Given the description of an element on the screen output the (x, y) to click on. 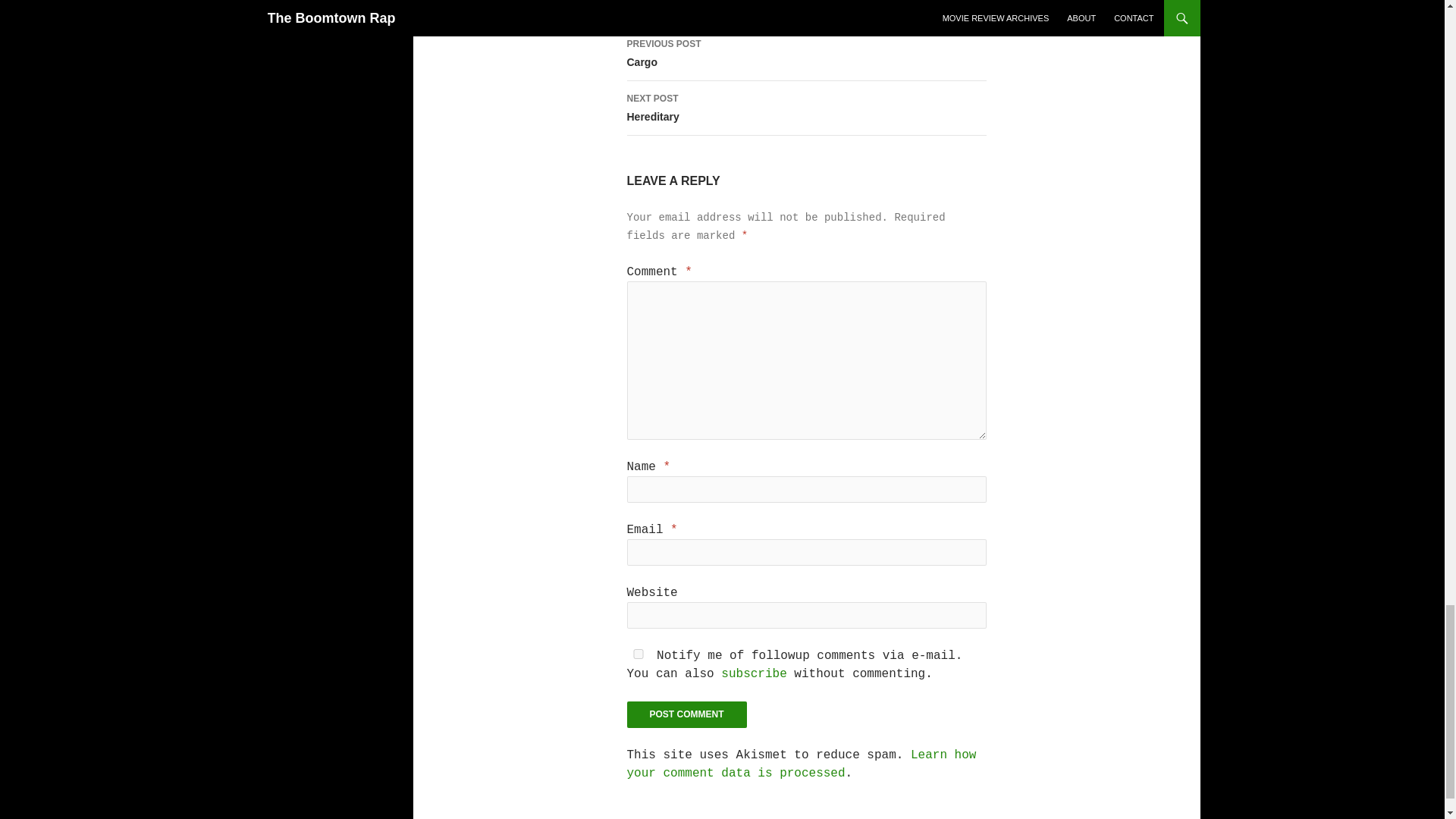
Learn how your comment data is processed (805, 108)
Post Comment (800, 764)
subscribe (685, 714)
Post Comment (805, 53)
yes (753, 673)
